Given the description of an element on the screen output the (x, y) to click on. 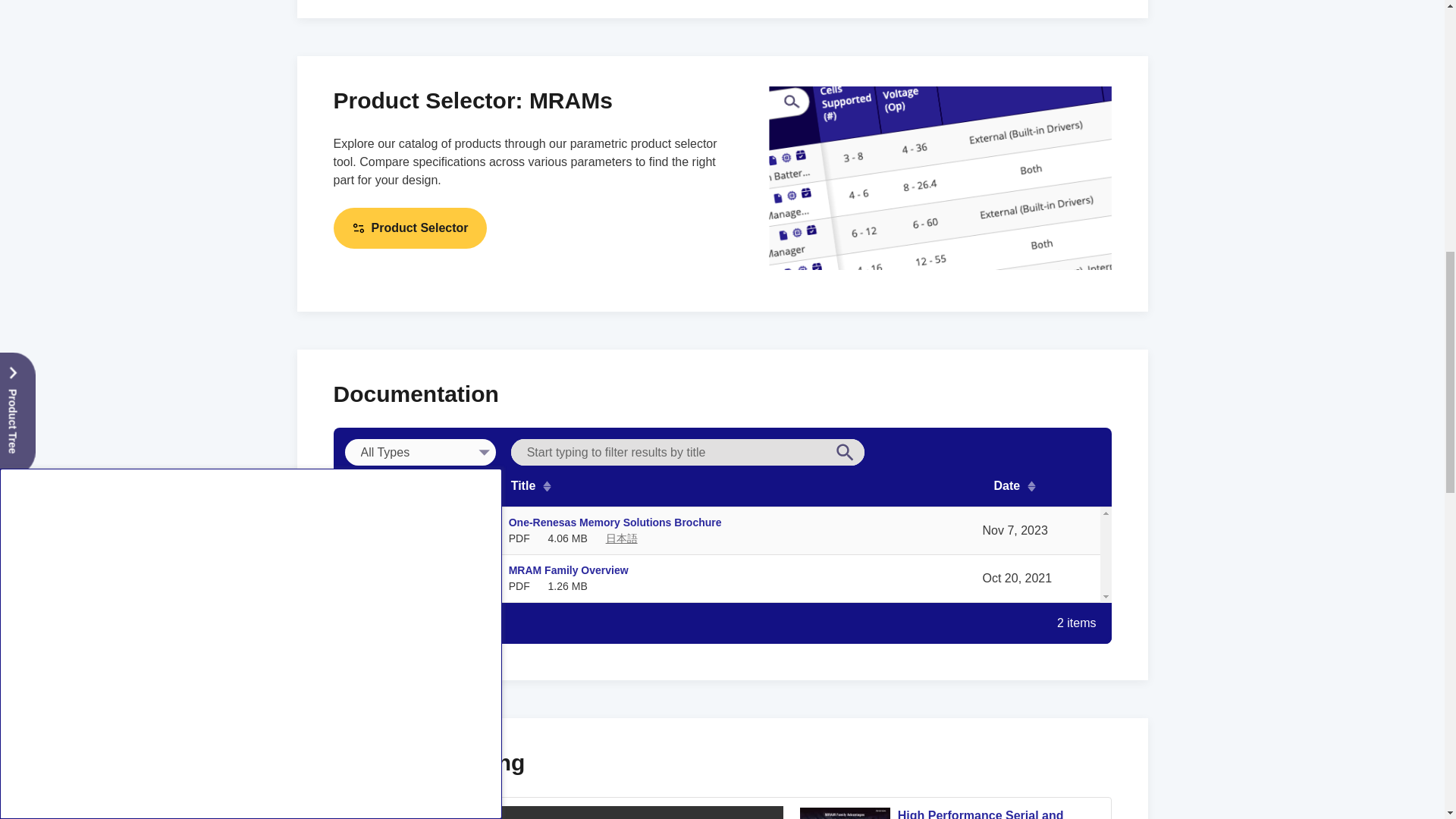
One-Renesas Memory Solutions Brochure (615, 522)
Sort by Date (1045, 485)
Sort by Title (744, 485)
Sort by Type (419, 485)
